Given the description of an element on the screen output the (x, y) to click on. 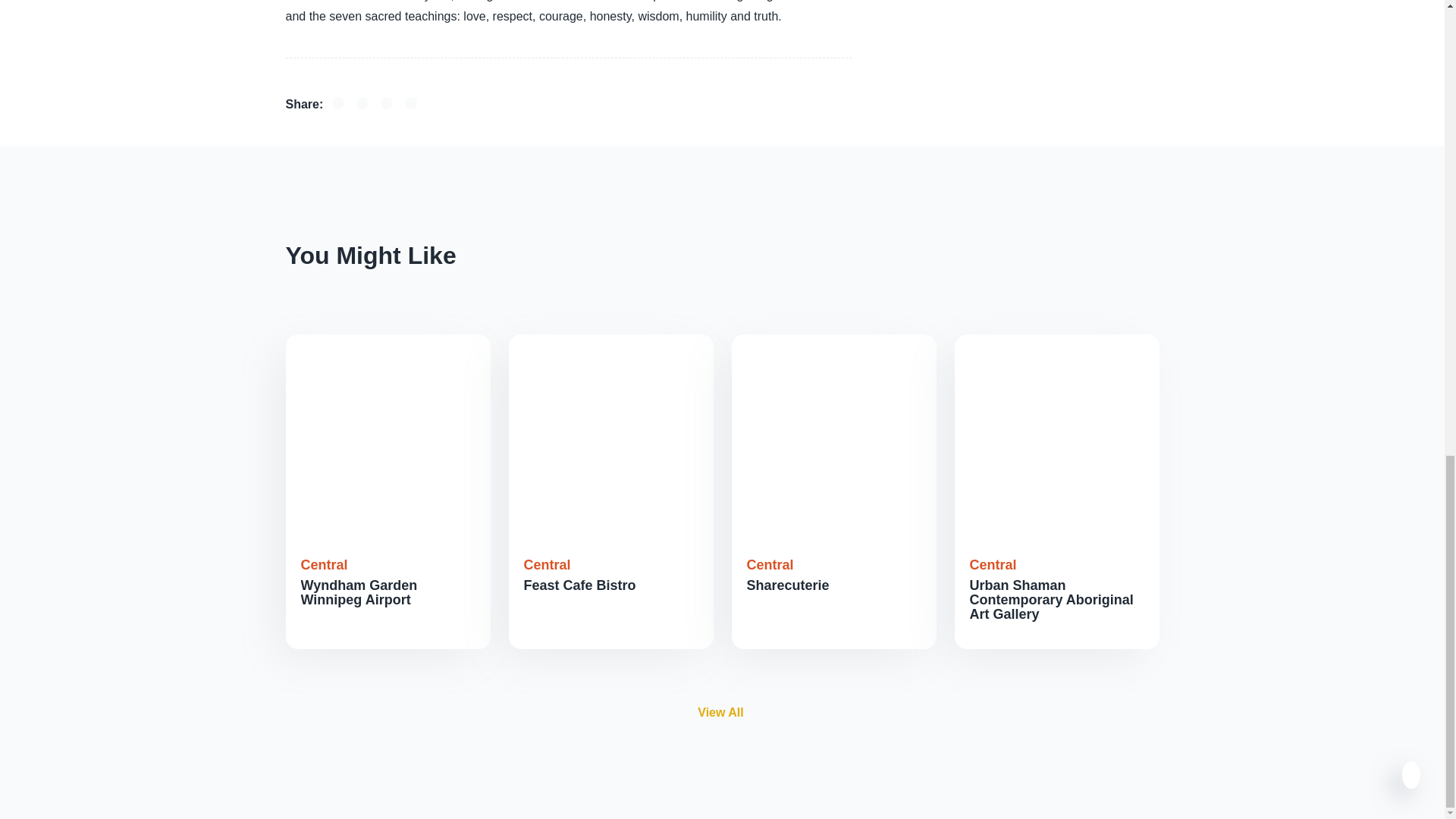
Sharecuterie (786, 585)
Feast Cafe Bistro (578, 585)
View All (719, 711)
Urban Shaman Contemporary Aboriginal Art Gallery (1050, 599)
View All (721, 712)
Wyndham Garden Winnipeg Airport (357, 592)
